Given the description of an element on the screen output the (x, y) to click on. 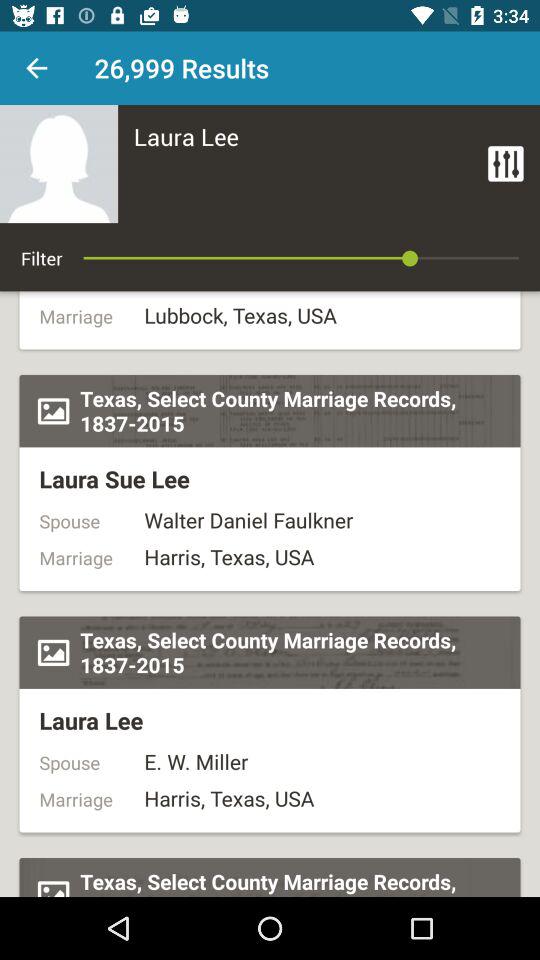
choose the item to the right of laura lee icon (505, 163)
